Given the description of an element on the screen output the (x, y) to click on. 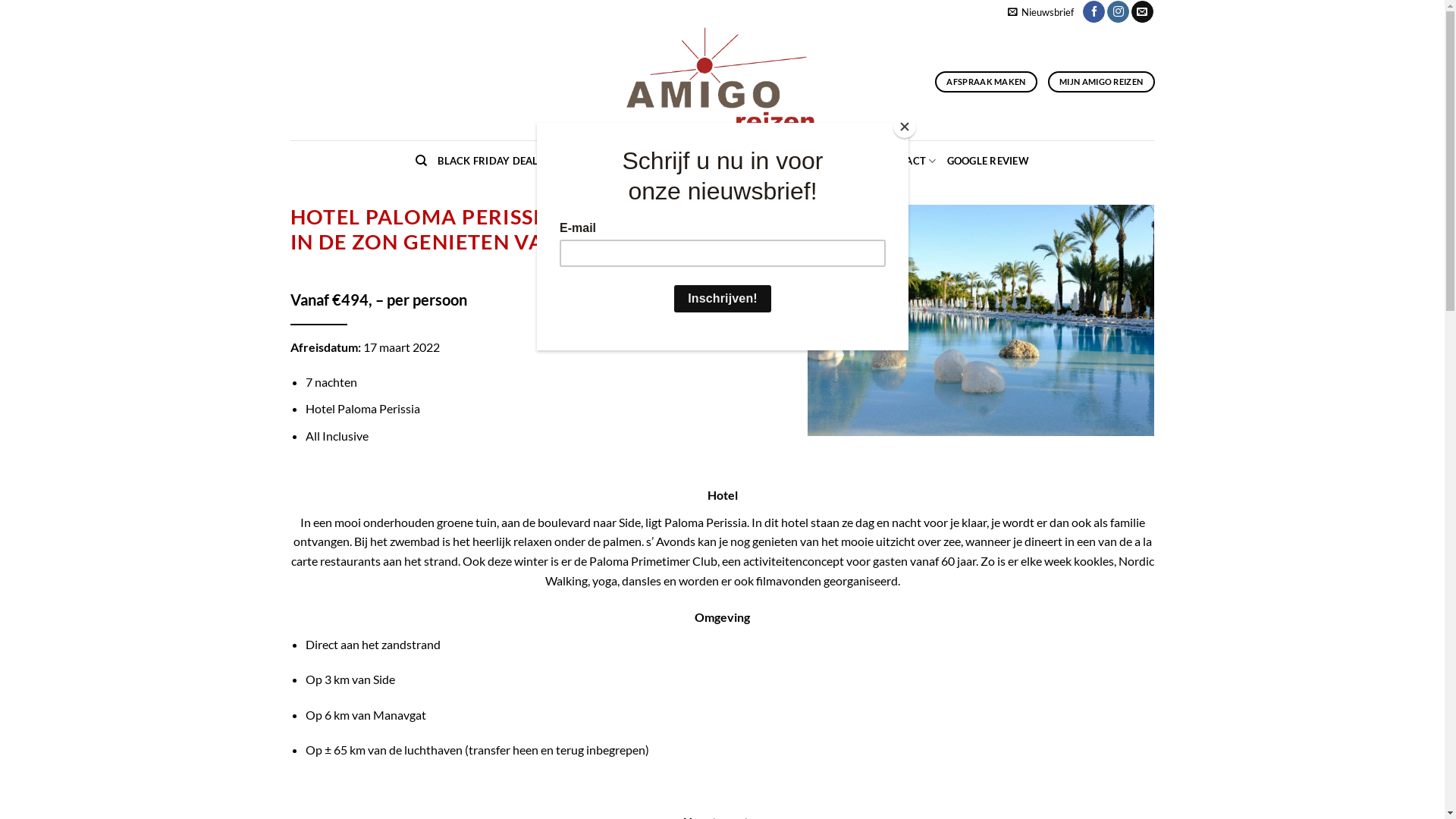
CLICK & TRAVEL Element type: text (593, 160)
AFSPRAAK MAKEN Element type: text (986, 81)
AANBOD Element type: text (671, 160)
PRAKTISCHE REISINFORMATIE Element type: text (788, 160)
GOOGLE REVIEW Element type: text (988, 160)
Nieuwsbrief Element type: text (1040, 11)
MIJN AMIGO REIZEN Element type: text (1101, 81)
BLACK FRIDAY DEALS Element type: text (490, 160)
CONTACT Element type: text (906, 160)
